Given the description of an element on the screen output the (x, y) to click on. 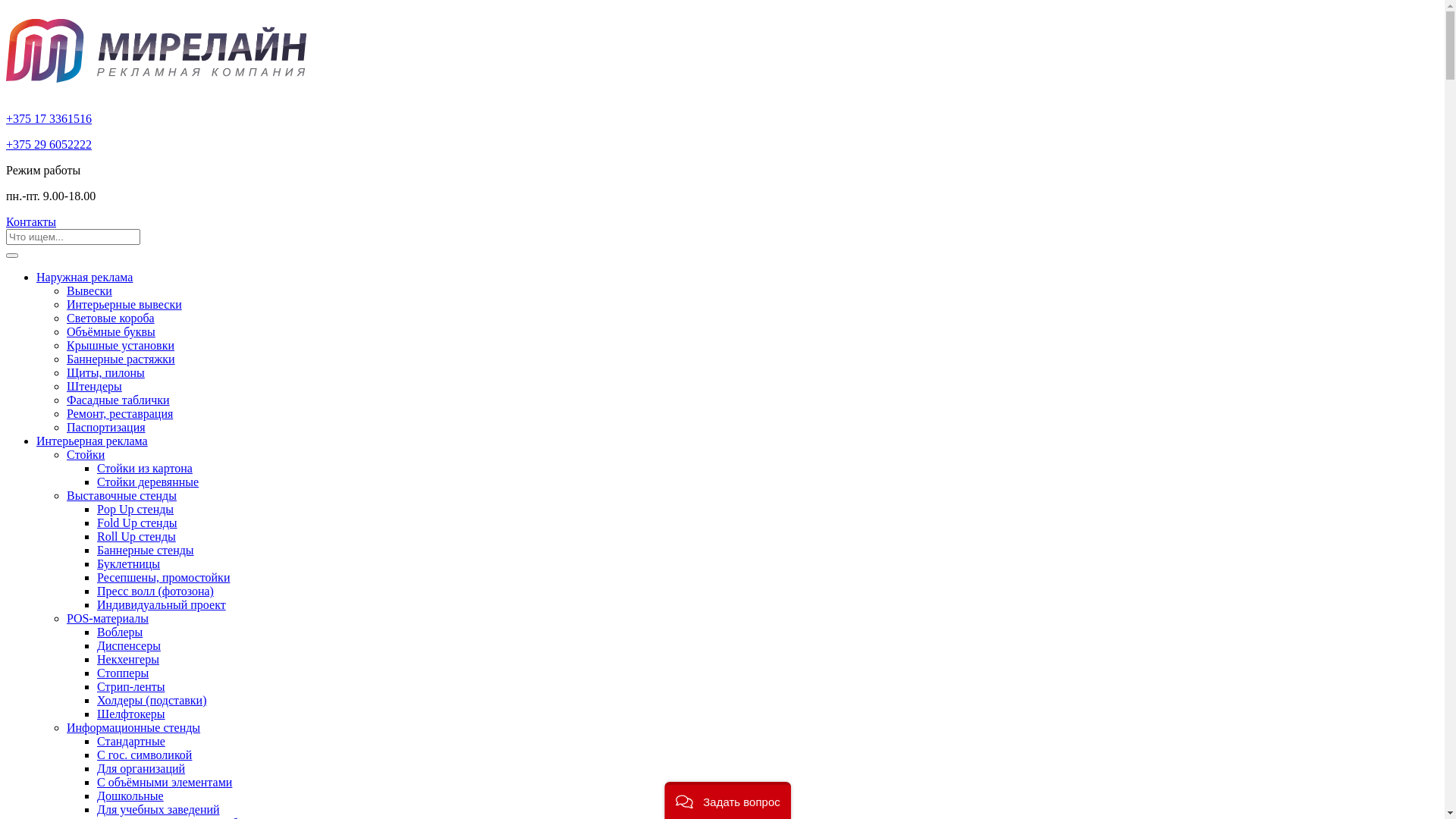
+375 17 3361516 Element type: text (48, 118)
+375 29 6052222 Element type: text (48, 144)
